Given the description of an element on the screen output the (x, y) to click on. 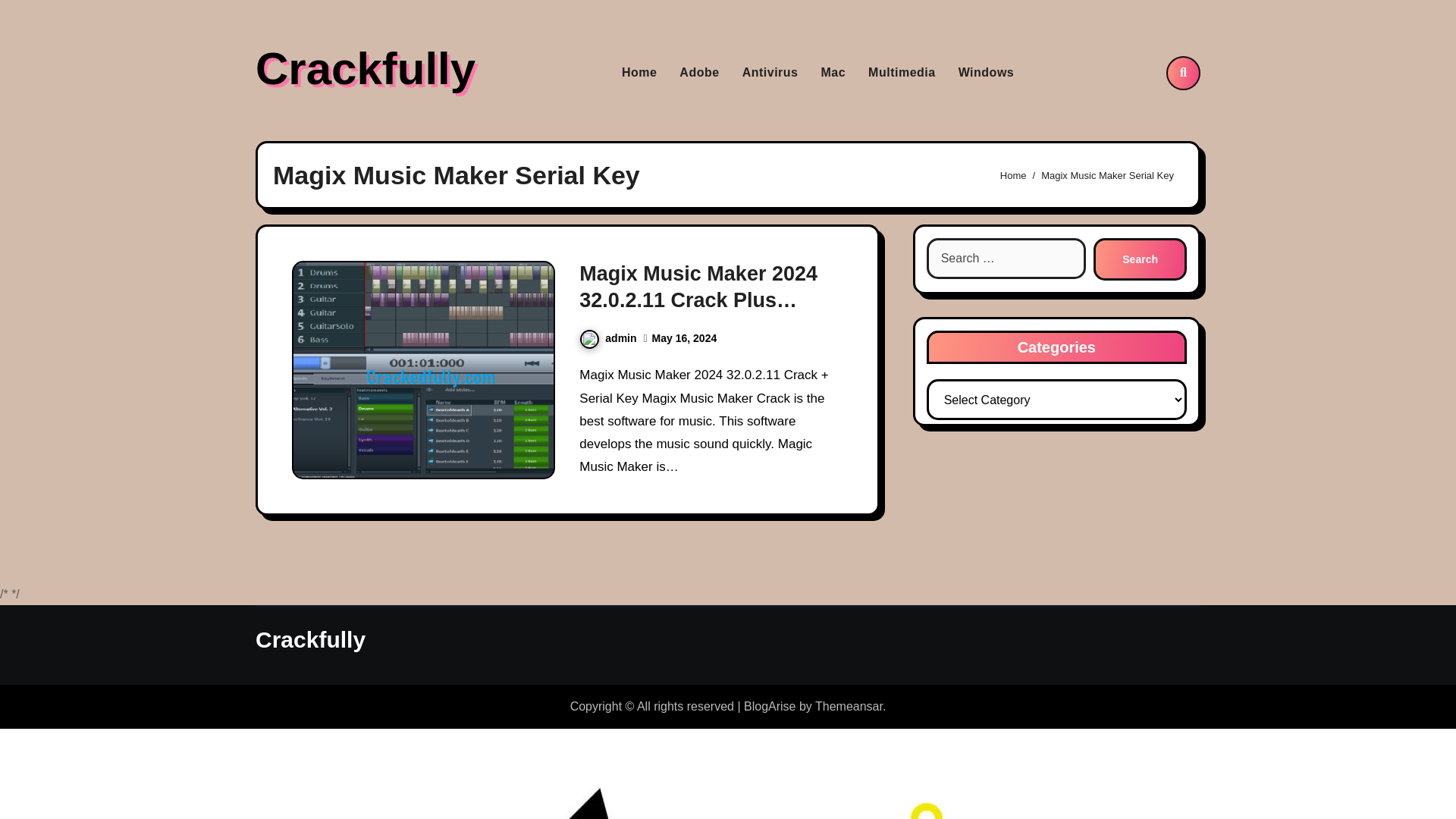
Multimedia (902, 73)
Home (639, 73)
Antivirus (769, 73)
Multimedia (902, 73)
Mac (833, 73)
Crackfully (310, 639)
Windows (986, 73)
Crackfully (366, 68)
BlogArise (769, 706)
